Given the description of an element on the screen output the (x, y) to click on. 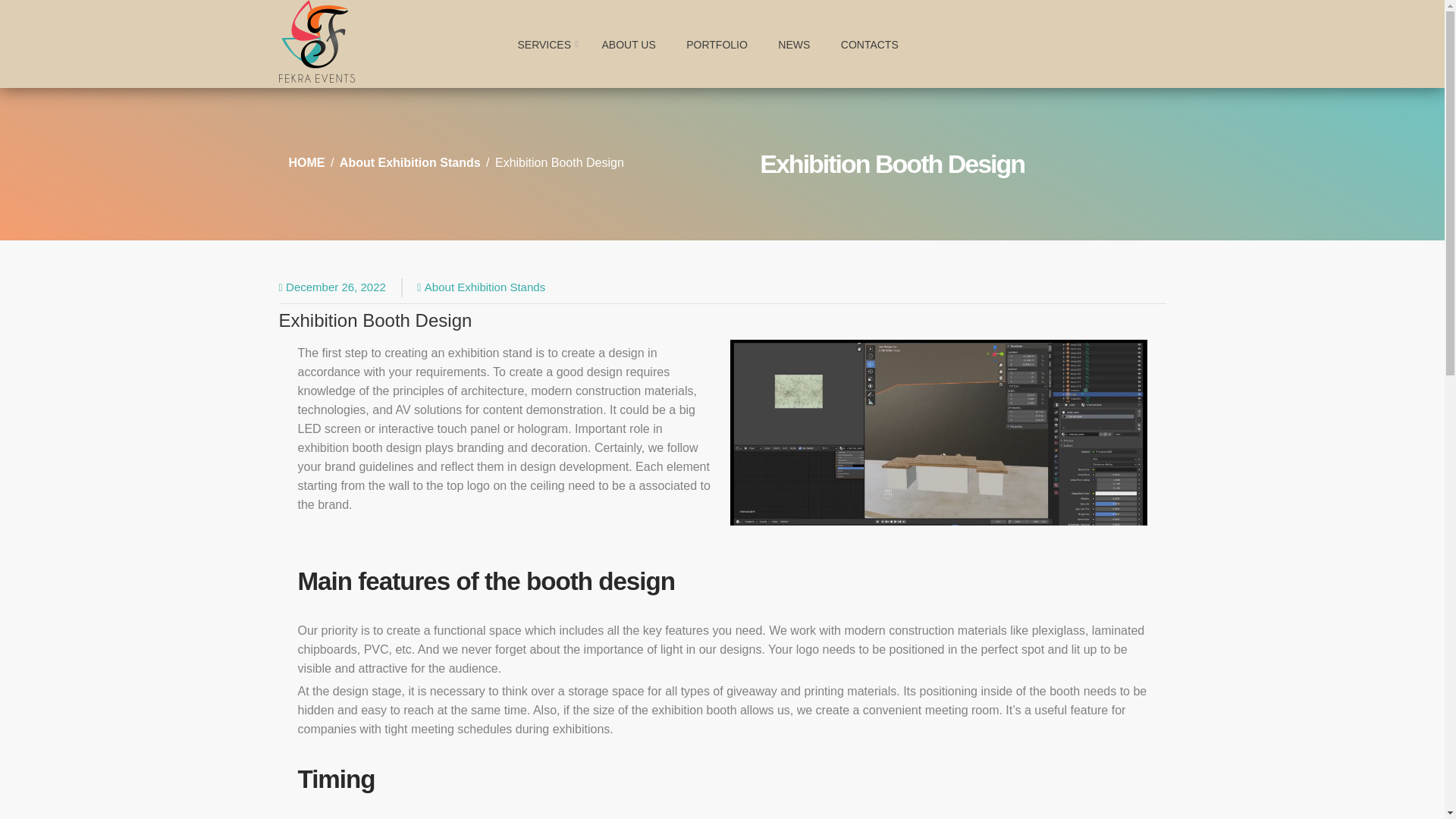
CONTACTS (869, 43)
SERVICES (544, 43)
NEWS (794, 43)
December 26, 2022 (335, 286)
HOME (306, 162)
Exhibition Booth Design (375, 320)
About Exhibition Stands (410, 162)
ABOUT US (628, 43)
PORTFOLIO (716, 43)
About Exhibition Stands (484, 286)
